Given the description of an element on the screen output the (x, y) to click on. 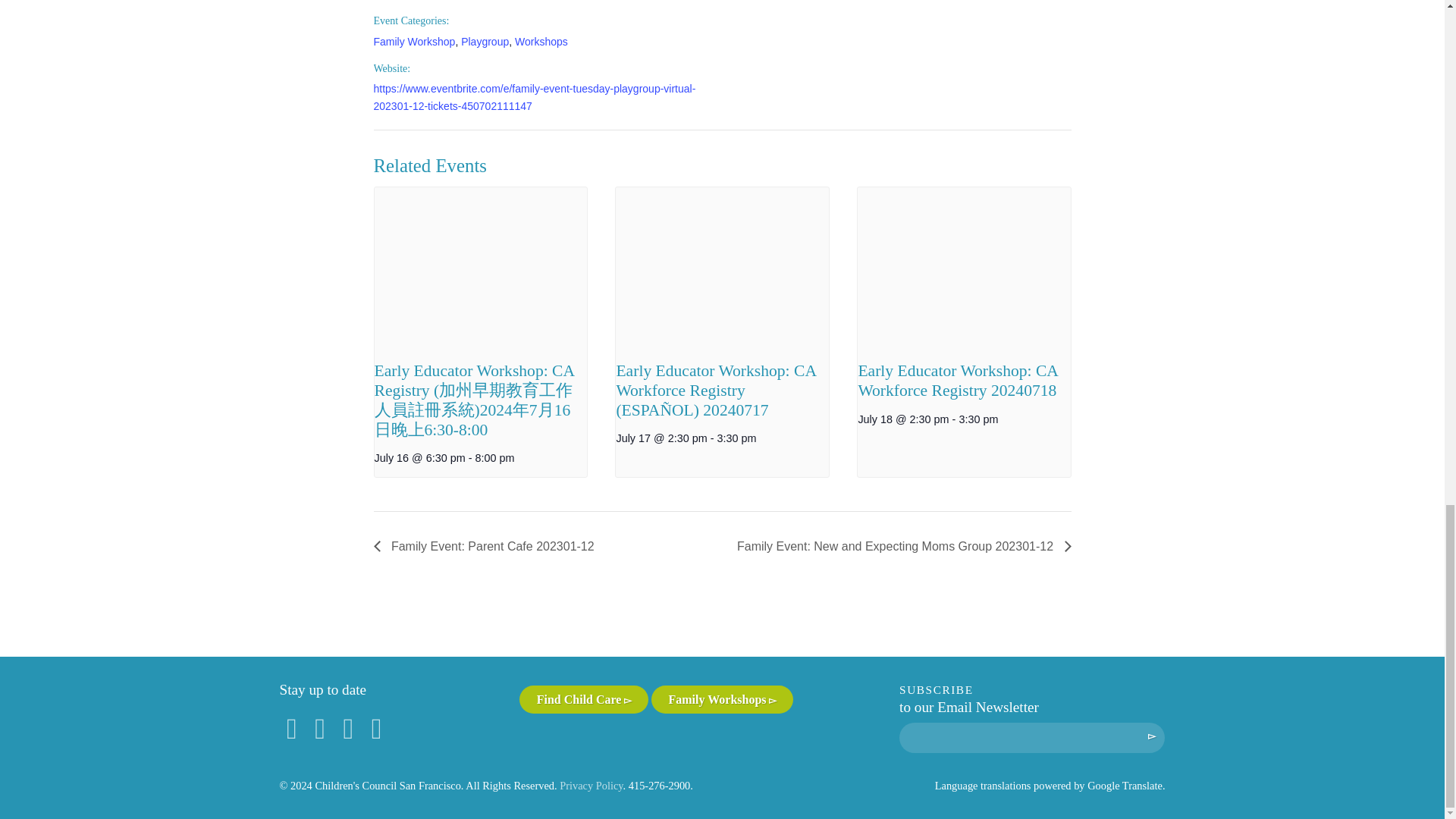
Facebook (291, 728)
LinkedIn (376, 728)
Twitter (348, 728)
Instagram (320, 728)
